Given the description of an element on the screen output the (x, y) to click on. 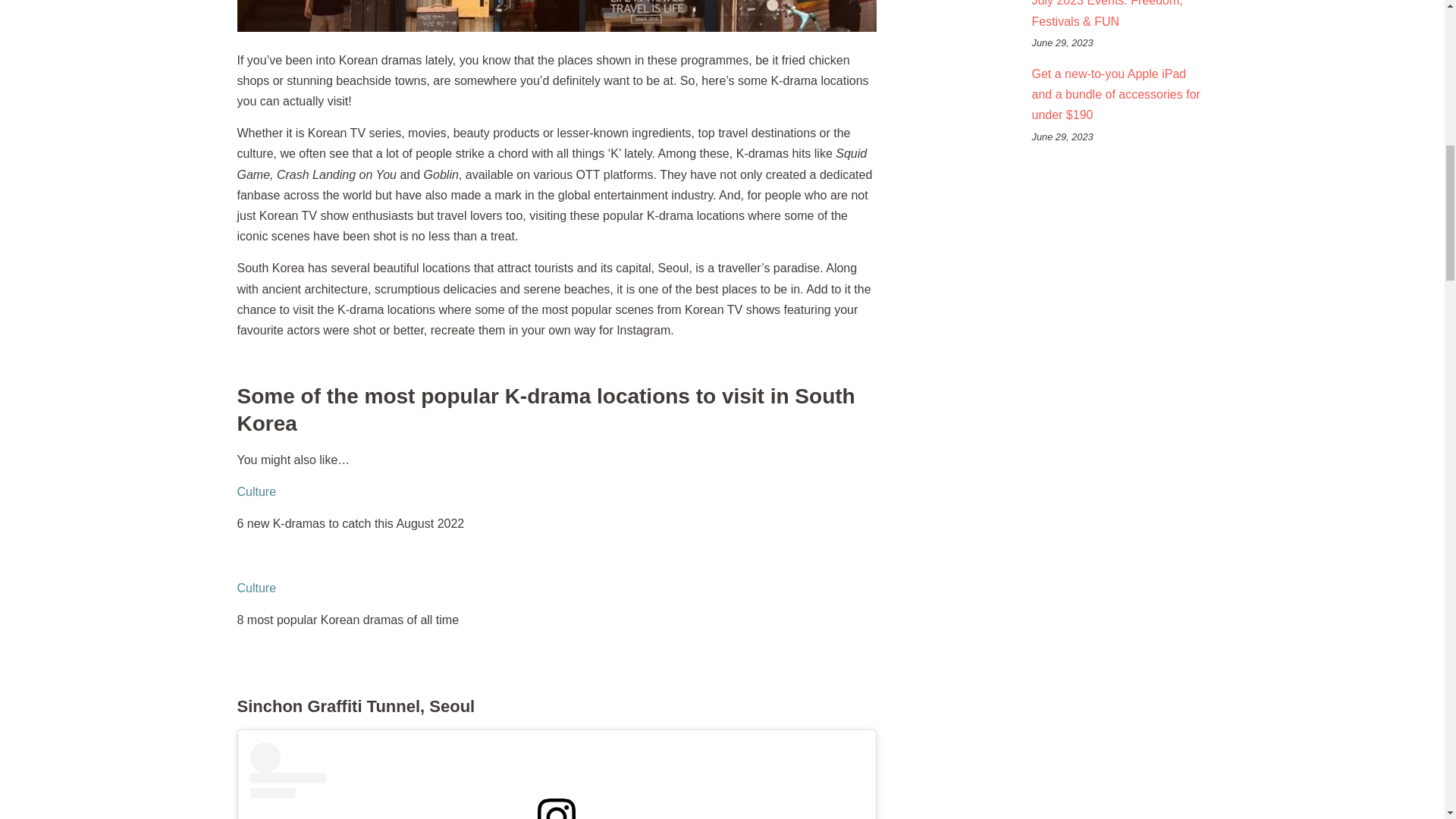
View this post on Instagram (556, 780)
